Given the description of an element on the screen output the (x, y) to click on. 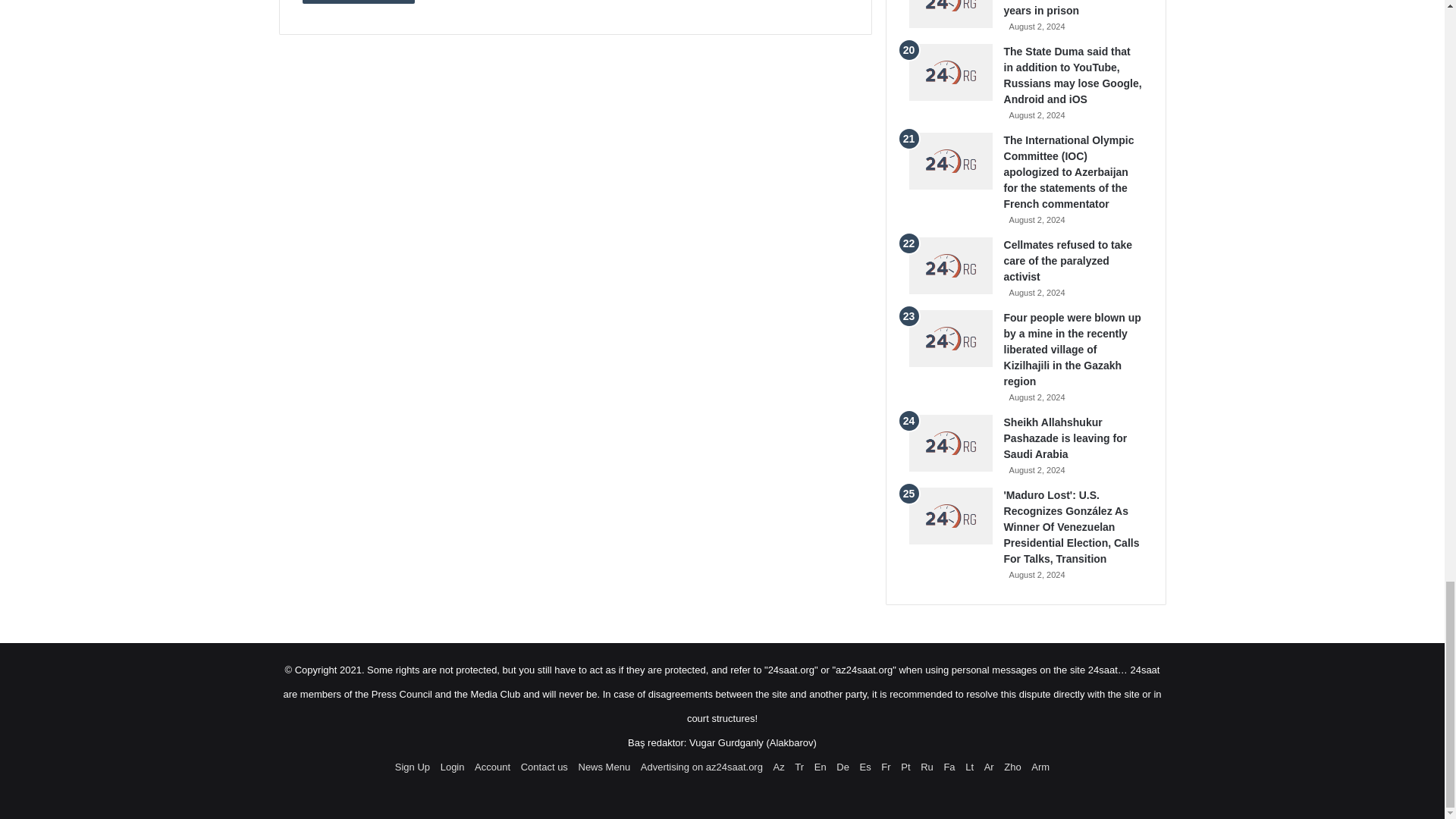
Post Comment (357, 2)
